Given the description of an element on the screen output the (x, y) to click on. 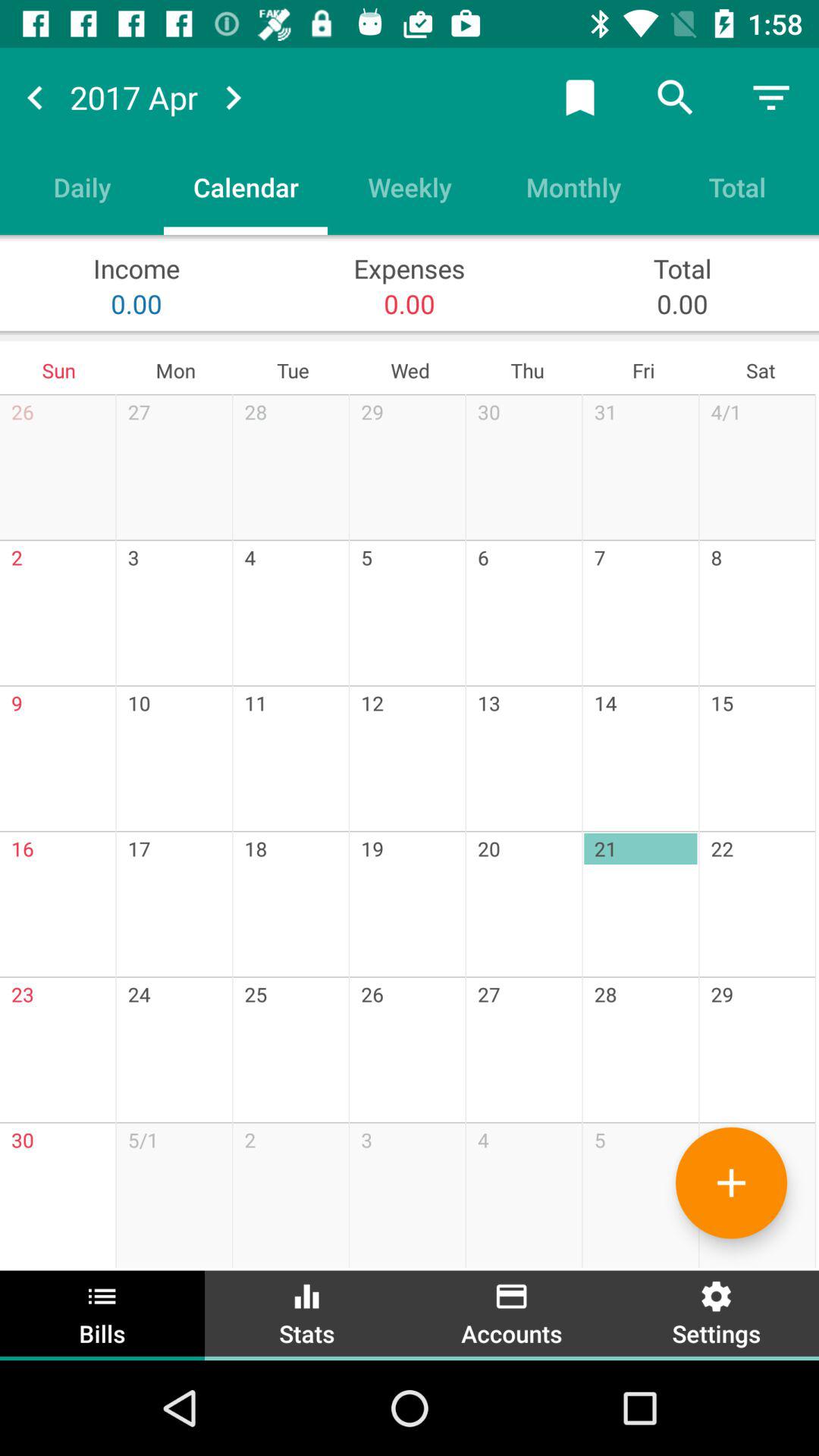
save date (579, 97)
